Given the description of an element on the screen output the (x, y) to click on. 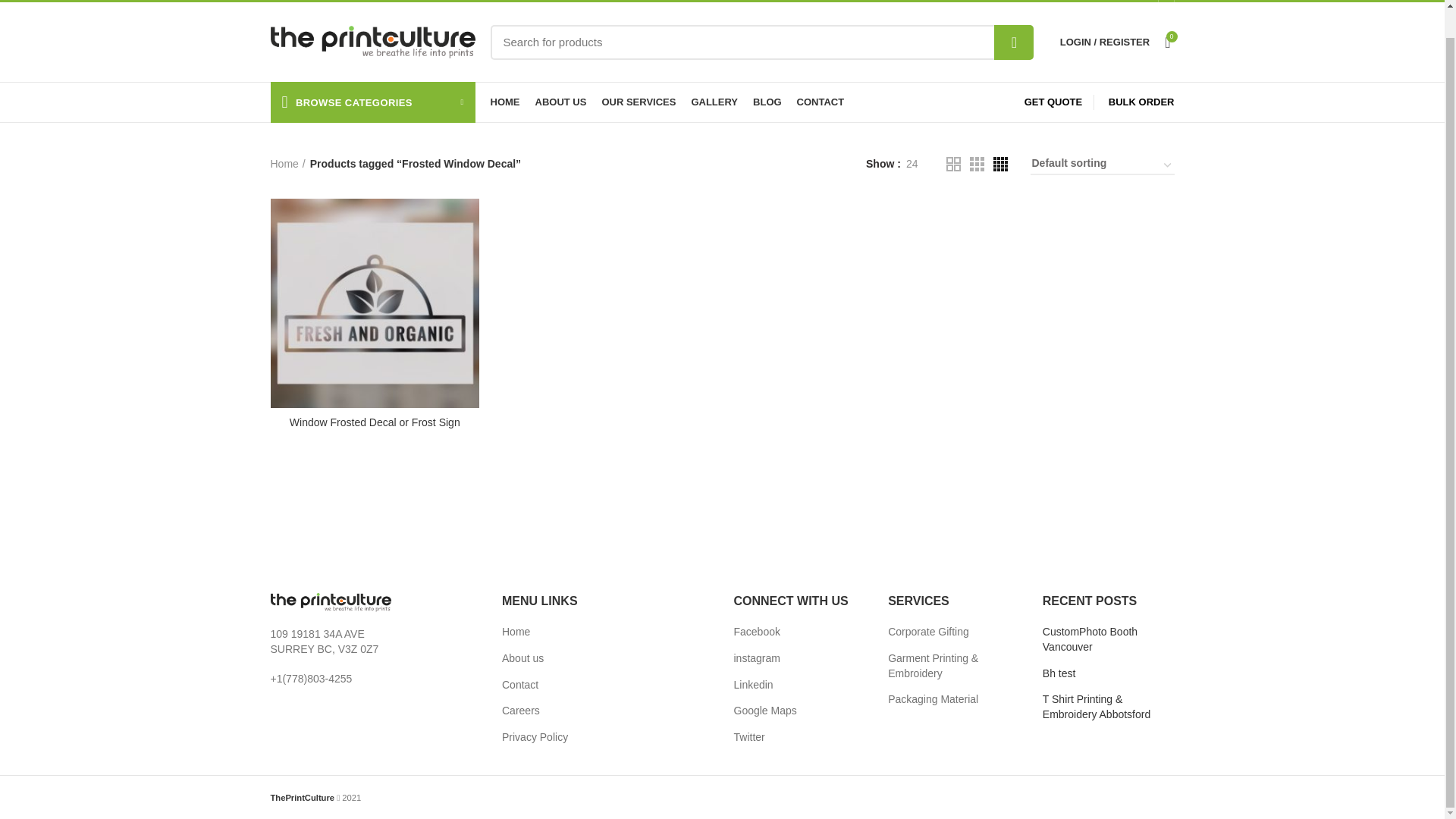
SEARCH (1013, 42)
My account (1104, 41)
Search for products (760, 42)
